Given the description of an element on the screen output the (x, y) to click on. 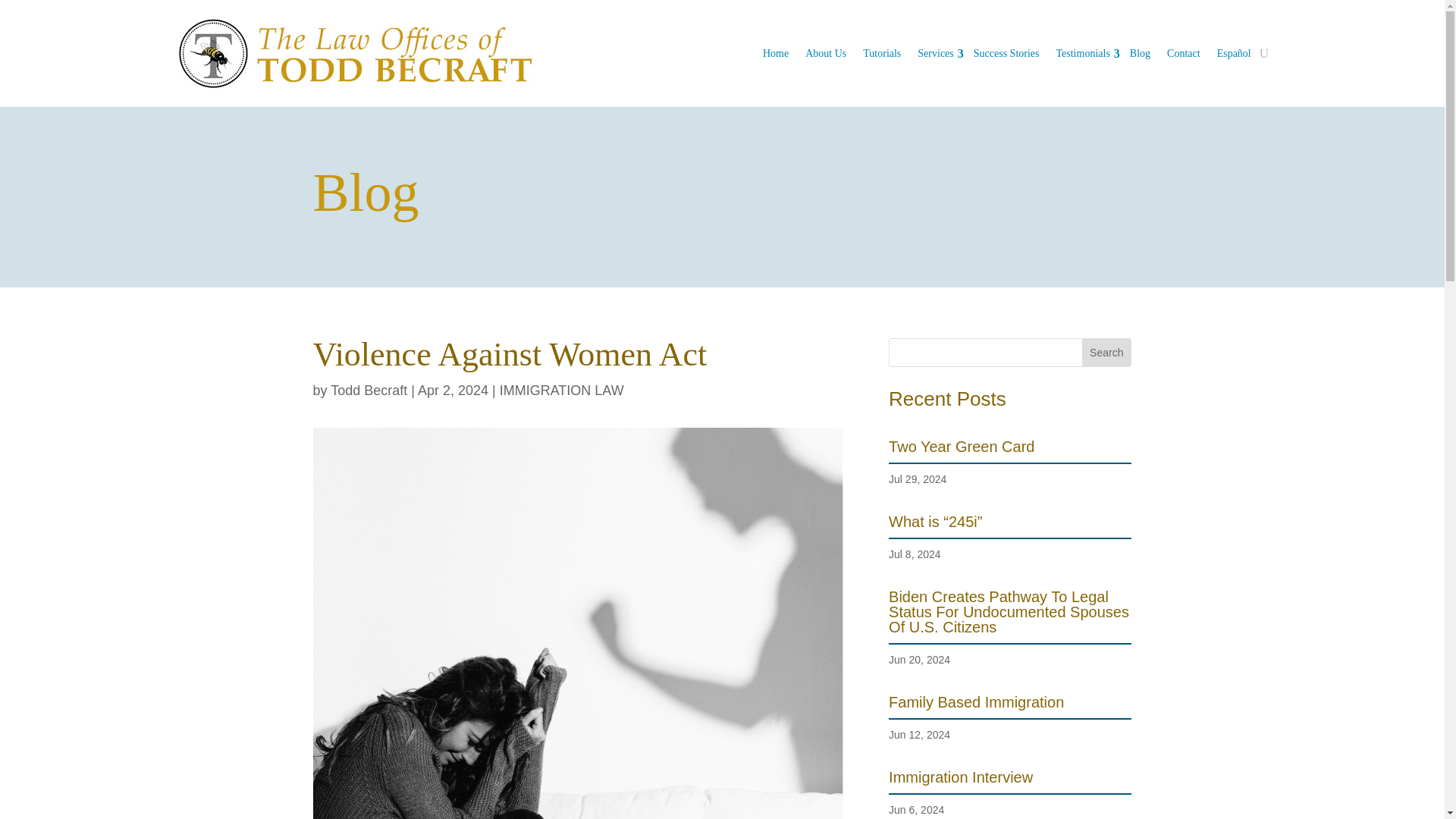
Two Year Green Card (960, 446)
Search (1106, 352)
Posts by Todd Becraft (368, 390)
Family Based Immigration (976, 701)
Search (1106, 352)
Todd Becraft (368, 390)
Immigration Interview (960, 777)
Search (1106, 352)
IMMIGRATION LAW (561, 390)
